Given the description of an element on the screen output the (x, y) to click on. 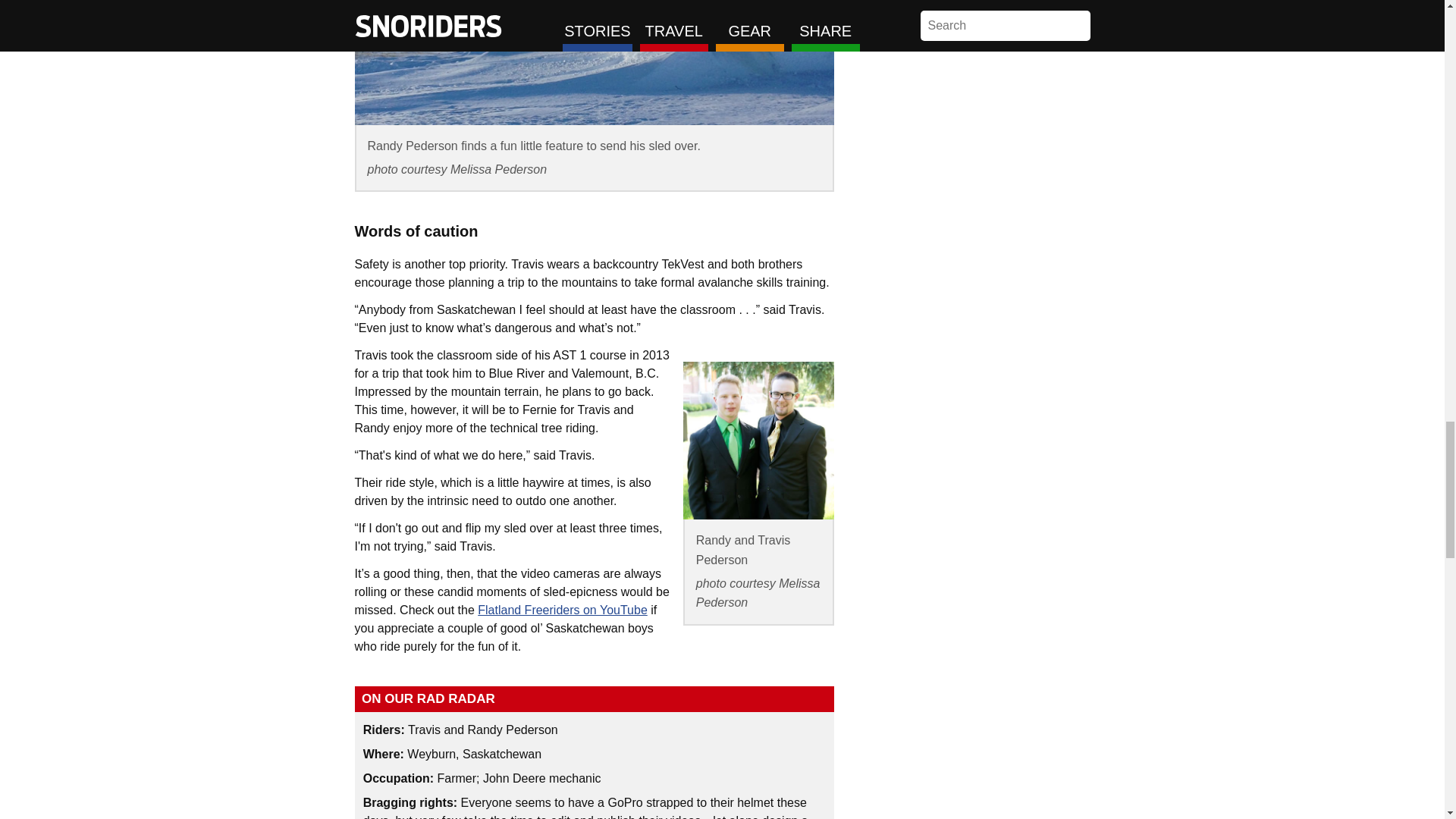
Flatland Freeriders on YouTube (562, 609)
